Given the description of an element on the screen output the (x, y) to click on. 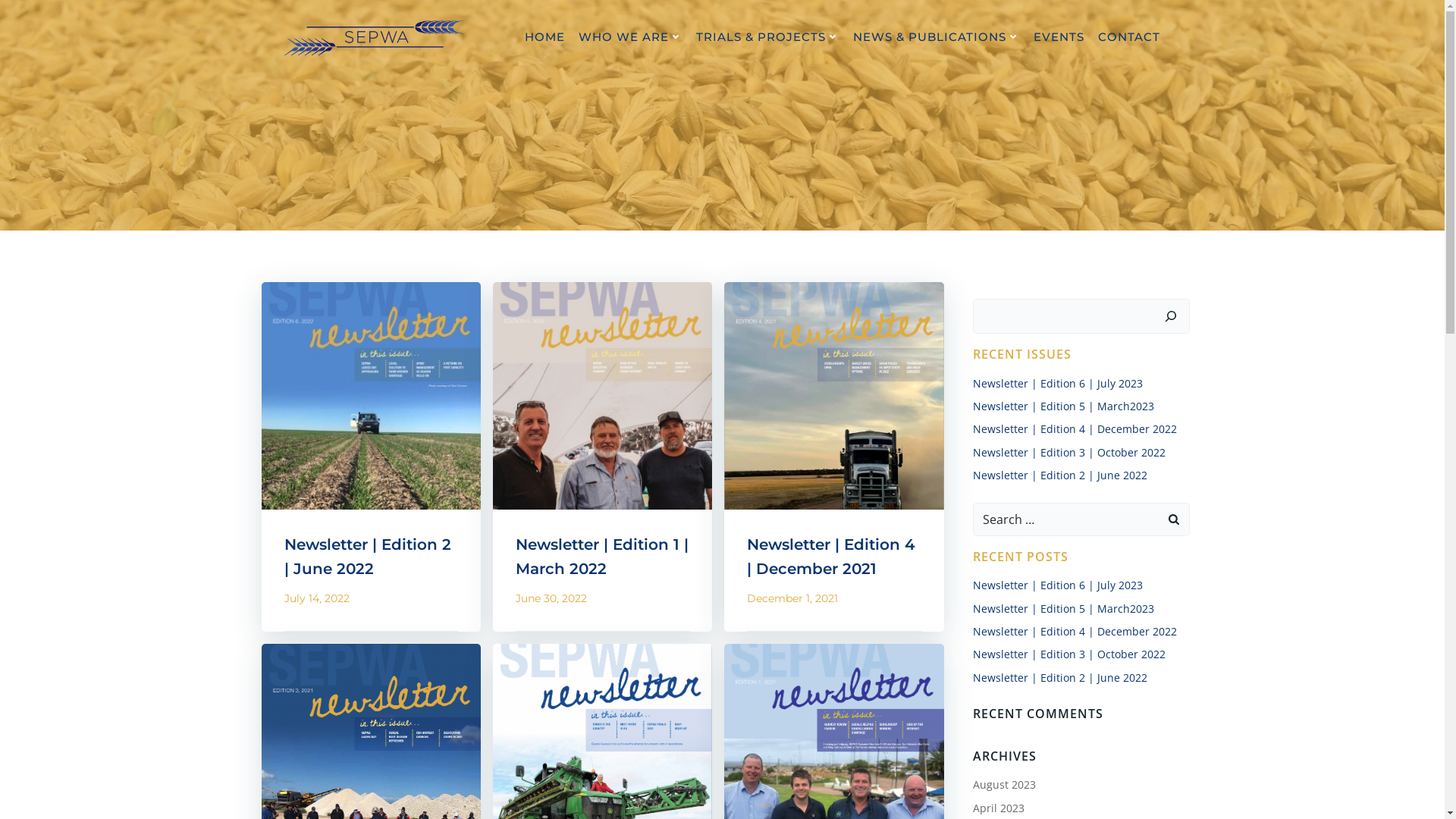
Newsletter | Edition 6 | July 2023 Element type: text (1057, 584)
Newsletter | Edition 4 | December 2021 Element type: hover (833, 394)
Newsletter | Edition 2 | June 2022 Element type: text (370, 556)
Newsletter | Edition 3 | October 2021 Element type: hover (370, 756)
EVENTS Element type: text (1057, 37)
Newsletter | Edition 4 | December 2022 Element type: text (1074, 428)
December 1, 2021 Element type: text (791, 598)
Newsletter | Edition 4 | December 2022 Element type: text (1074, 631)
Newsletter | Edition 1 | March 2022 Element type: hover (602, 394)
Newsletter | Edition 4 | December 2021 Element type: text (833, 556)
June 30, 2022 Element type: text (550, 598)
Newsletter | Edition 5 | March2023 Element type: text (1063, 405)
April 2023 Element type: text (998, 807)
CONTACT Element type: text (1129, 37)
July 14, 2022 Element type: text (315, 598)
HOME Element type: text (544, 37)
WHO WE ARE Element type: text (629, 37)
Newsletter | Edition 6 | July 2023 Element type: text (1057, 383)
Newsletter | Edition 3 | October 2022 Element type: text (1068, 653)
Newsletter | Edition 2 | June 2022 Element type: text (1059, 677)
Newsletter | Edition 5 | March2023 Element type: text (1063, 608)
August 2023 Element type: text (1003, 784)
Newsletter | Edition 3 | October 2022 Element type: text (1068, 452)
NEWS & PUBLICATIONS Element type: text (935, 37)
TRIALS & PROJECTS Element type: text (767, 37)
Newsletter  |  Edition 2  |  June 2021 Element type: hover (602, 756)
Newsletter | Edition 2 | June 2022 Element type: text (1059, 474)
Search  Element type: text (29, 15)
Newsletter | Edition 2 | June 2022 Element type: hover (370, 394)
Newsletter | Edition 1 | March 2022 Element type: text (602, 556)
Newsletter  |  Edition 1  |  March 2021 Element type: hover (833, 756)
